Given the description of an element on the screen output the (x, y) to click on. 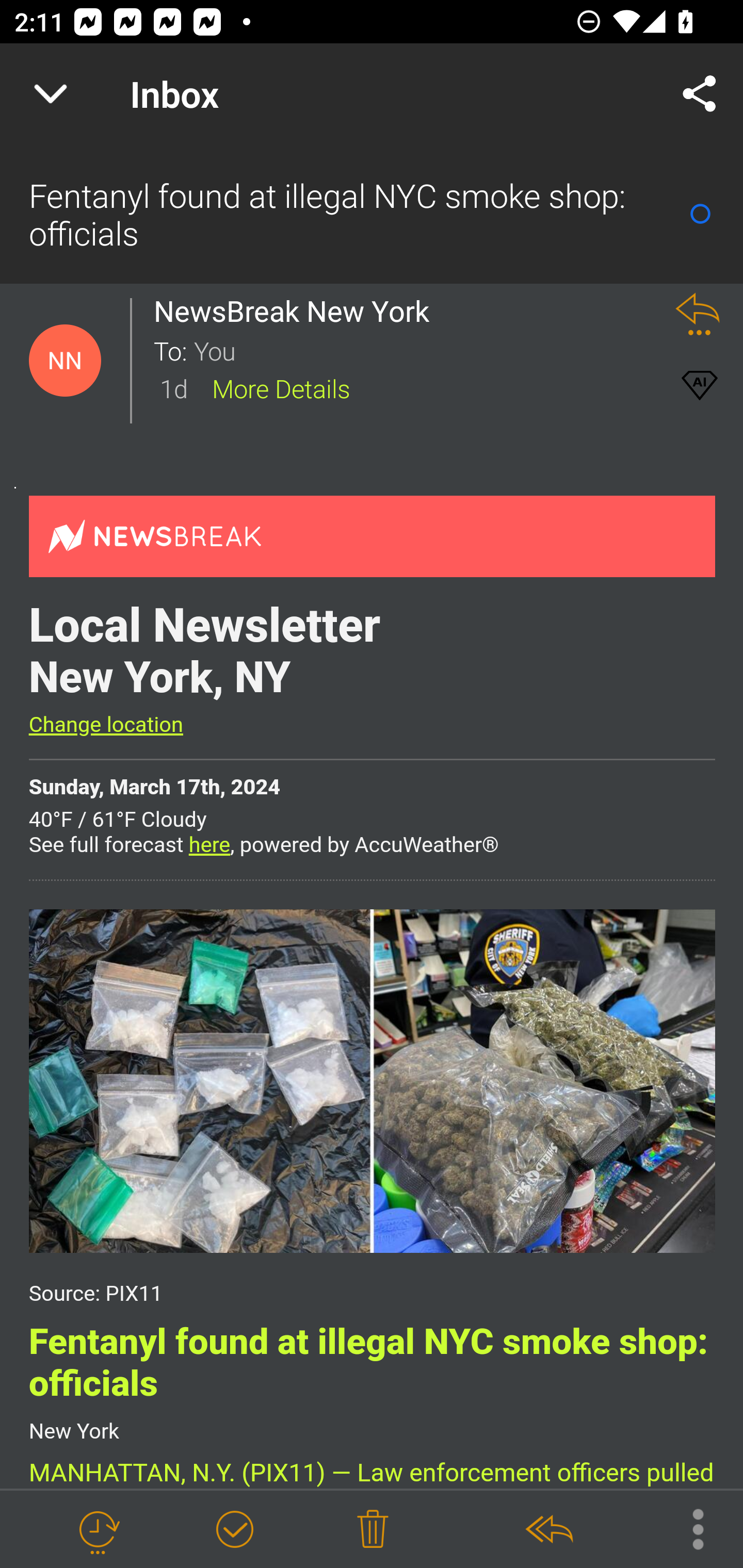
Navigate up (50, 93)
Share (699, 93)
Mark as Read (699, 213)
NewsBreak New York (296, 310)
Contact Details (64, 360)
You (422, 349)
More Details (280, 387)
Change location (105, 724)
here (209, 845)
1 local news image (371, 1079)
More Options (687, 1528)
Snooze (97, 1529)
Mark as Done (234, 1529)
Delete (372, 1529)
Reply All (548, 1529)
